Given the description of an element on the screen output the (x, y) to click on. 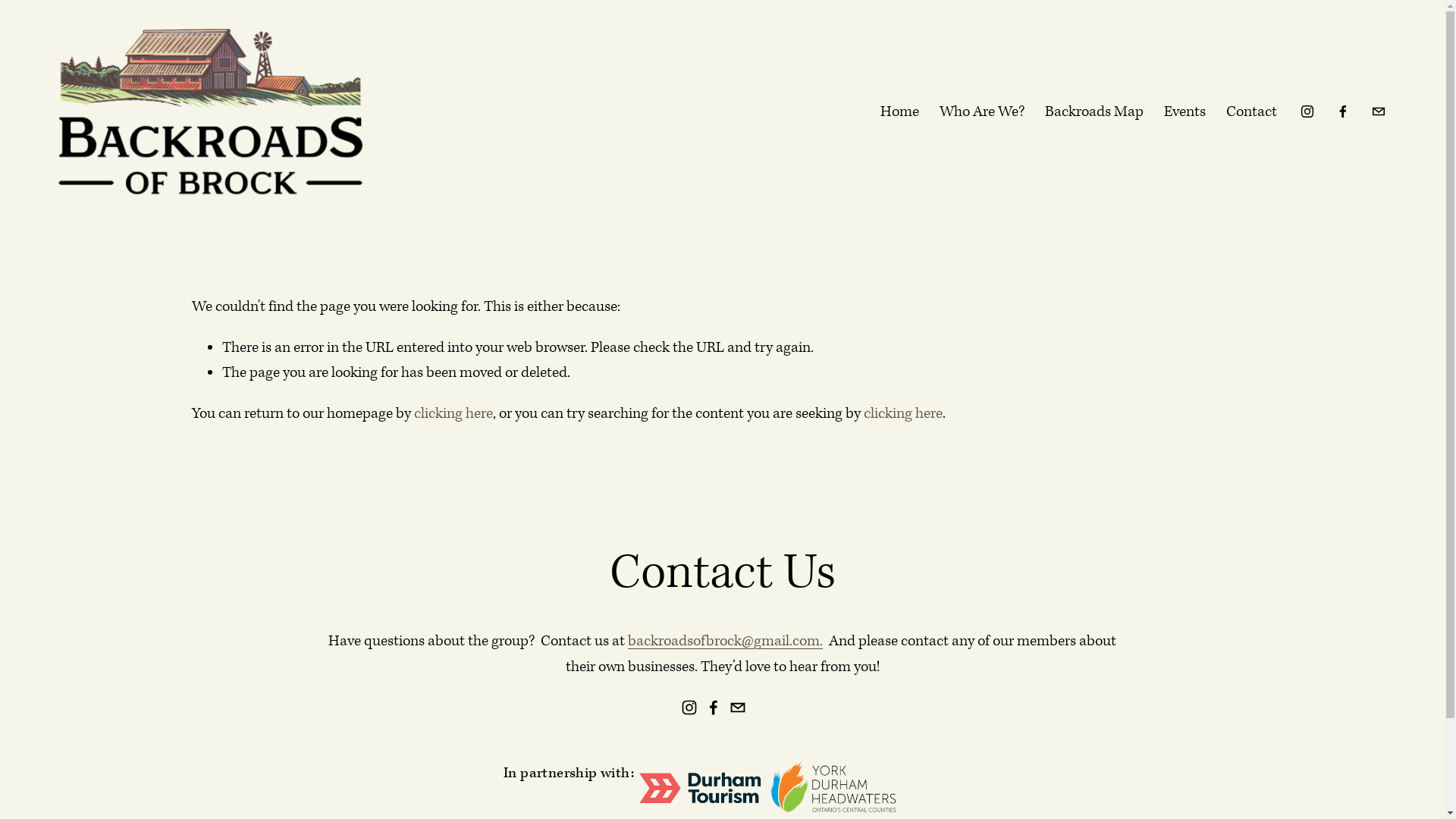
Home Element type: text (899, 111)
Backroads Map Element type: text (1093, 111)
clicking here Element type: text (901, 413)
clicking here Element type: text (453, 413)
Contact Element type: text (1251, 111)
Who Are We? Element type: text (981, 111)
backroadsofbrock@gmail.com. Element type: text (724, 640)
Events Element type: text (1184, 111)
